Given the description of an element on the screen output the (x, y) to click on. 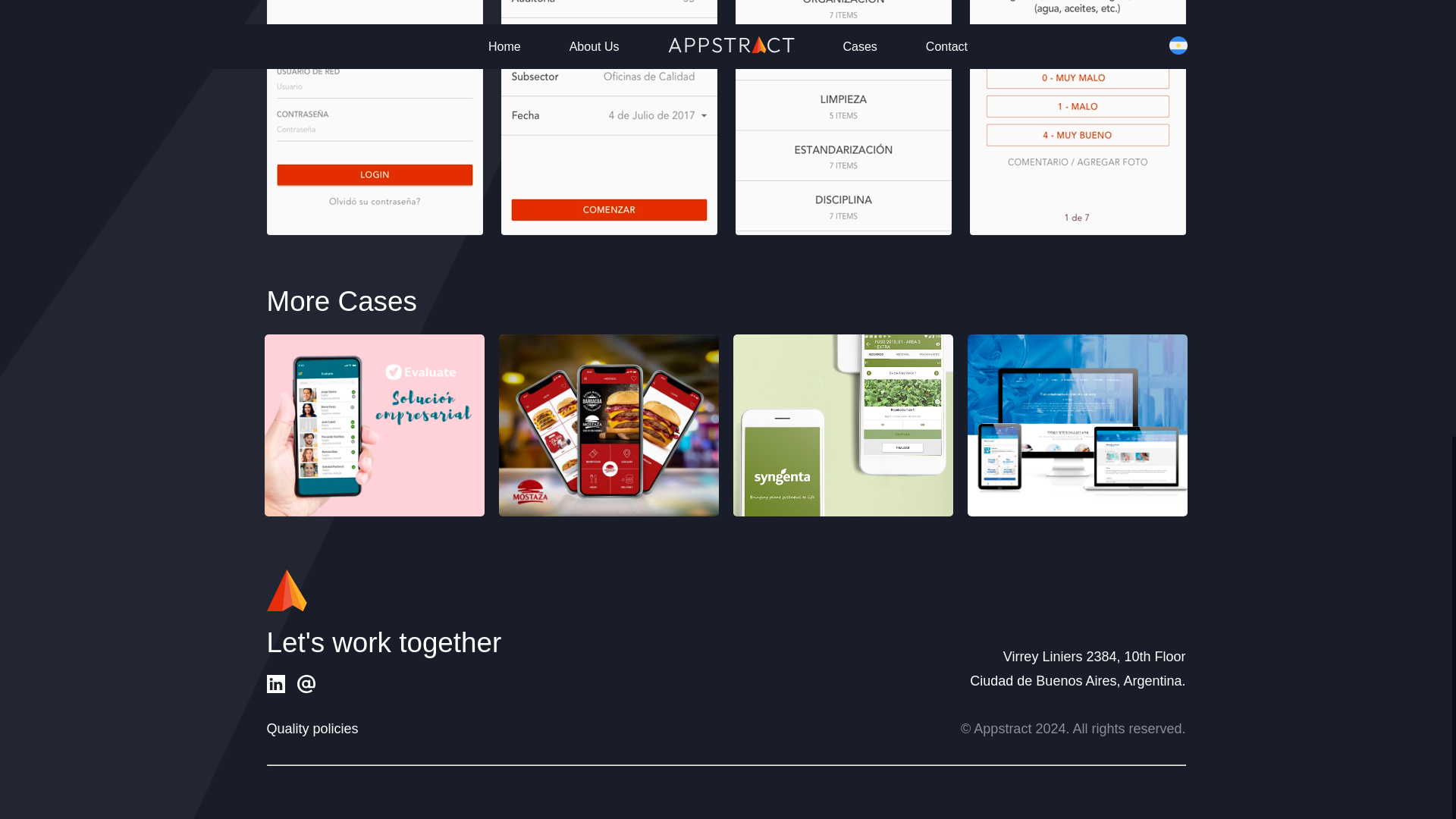
SYNGENTA (843, 425)
TEMIS LOSTALO (1078, 425)
EVALUATE (374, 425)
Quality policies (312, 729)
MOSTAZA (609, 425)
